Given the description of an element on the screen output the (x, y) to click on. 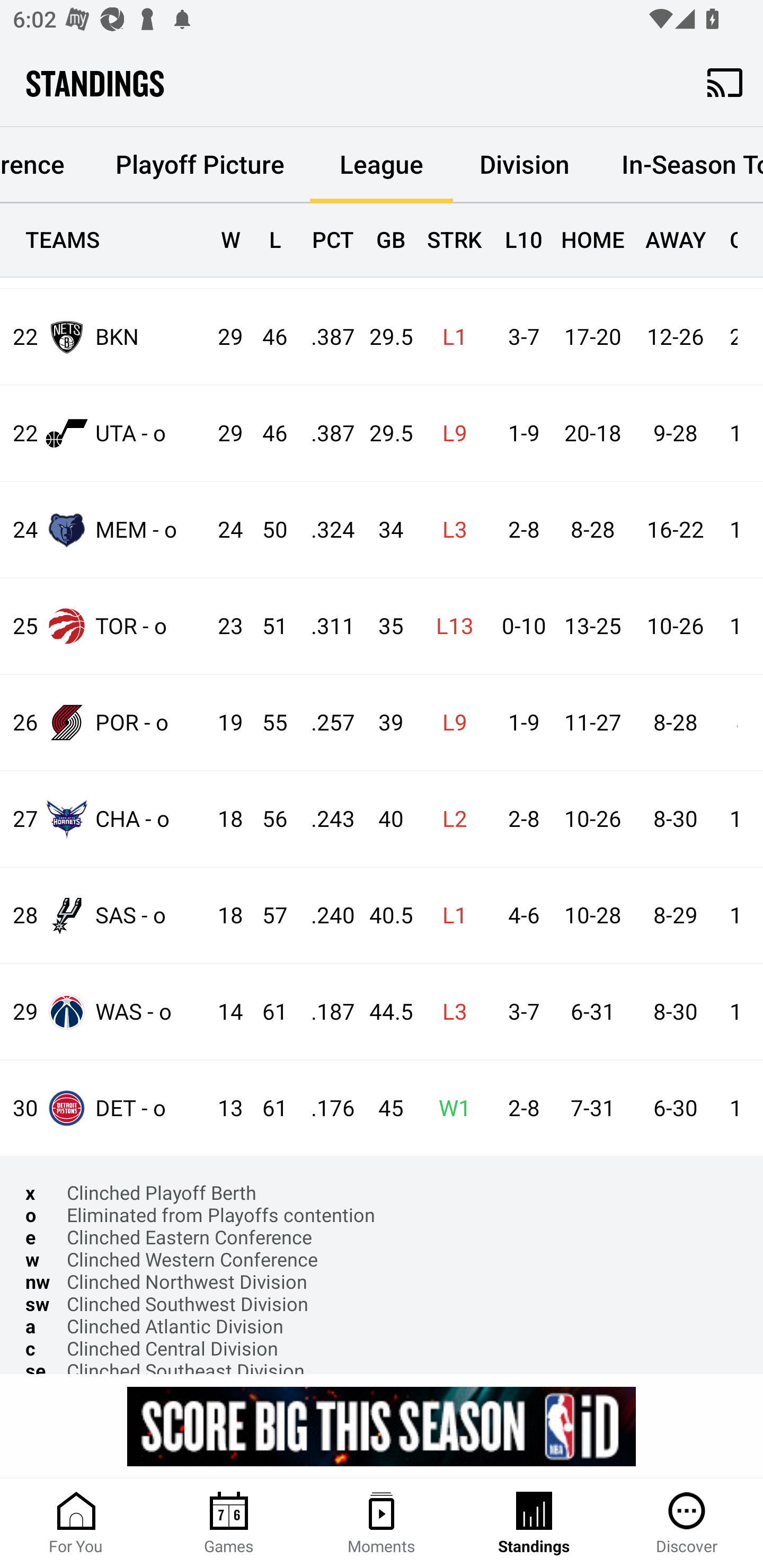
Cast. Disconnected (724, 82)
Conference (45, 159)
Playoff Picture (199, 164)
Division (524, 164)
In-Season Tournament (679, 164)
21 ATL (104, 245)
22 BKN (104, 336)
46 (265, 337)
.387 (323, 337)
29.5 (382, 337)
L1 (449, 337)
3-7 (518, 337)
17-20 (592, 337)
12-26 (675, 337)
22 UTA - o (104, 433)
46 (265, 433)
.387 (323, 433)
29.5 (382, 433)
L9 (449, 433)
1-9 (518, 433)
20-18 (592, 433)
9-28 (675, 433)
24 MEM - o (104, 529)
50 (265, 529)
.324 (323, 529)
34 (382, 529)
L3 (449, 529)
2-8 (518, 529)
8-28 (592, 529)
16-22 (675, 529)
25 TOR - o (104, 626)
51 (265, 626)
.311 (323, 626)
35 (382, 626)
L13 (449, 626)
0-10 (518, 626)
13-25 (592, 626)
10-26 (675, 626)
26 POR - o (104, 721)
55 (265, 722)
.257 (323, 722)
39 (382, 722)
L9 (449, 722)
1-9 (518, 722)
11-27 (592, 722)
8-28 (675, 722)
27 CHA - o (104, 819)
56 (265, 818)
.243 (323, 818)
40 (382, 818)
L2 (449, 818)
2-8 (518, 818)
10-26 (592, 818)
8-30 (675, 818)
28 SAS - o (104, 914)
57 (265, 915)
.240 (323, 915)
40.5 (382, 915)
L1 (449, 915)
4-6 (518, 915)
10-28 (592, 915)
8-29 (675, 915)
29 WAS - o (104, 1011)
61 (265, 1011)
.187 (323, 1011)
44.5 (382, 1011)
L3 (449, 1011)
3-7 (518, 1011)
6-31 (592, 1011)
8-30 (675, 1011)
30 DET - o (104, 1107)
61 (265, 1108)
.176 (323, 1108)
45 (382, 1108)
W1 (449, 1108)
2-8 (518, 1108)
7-31 (592, 1108)
6-30 (675, 1108)
g5nqqygr7owph (381, 1426)
For You (76, 1523)
Games (228, 1523)
Moments (381, 1523)
Discover (686, 1523)
